Given the description of an element on the screen output the (x, y) to click on. 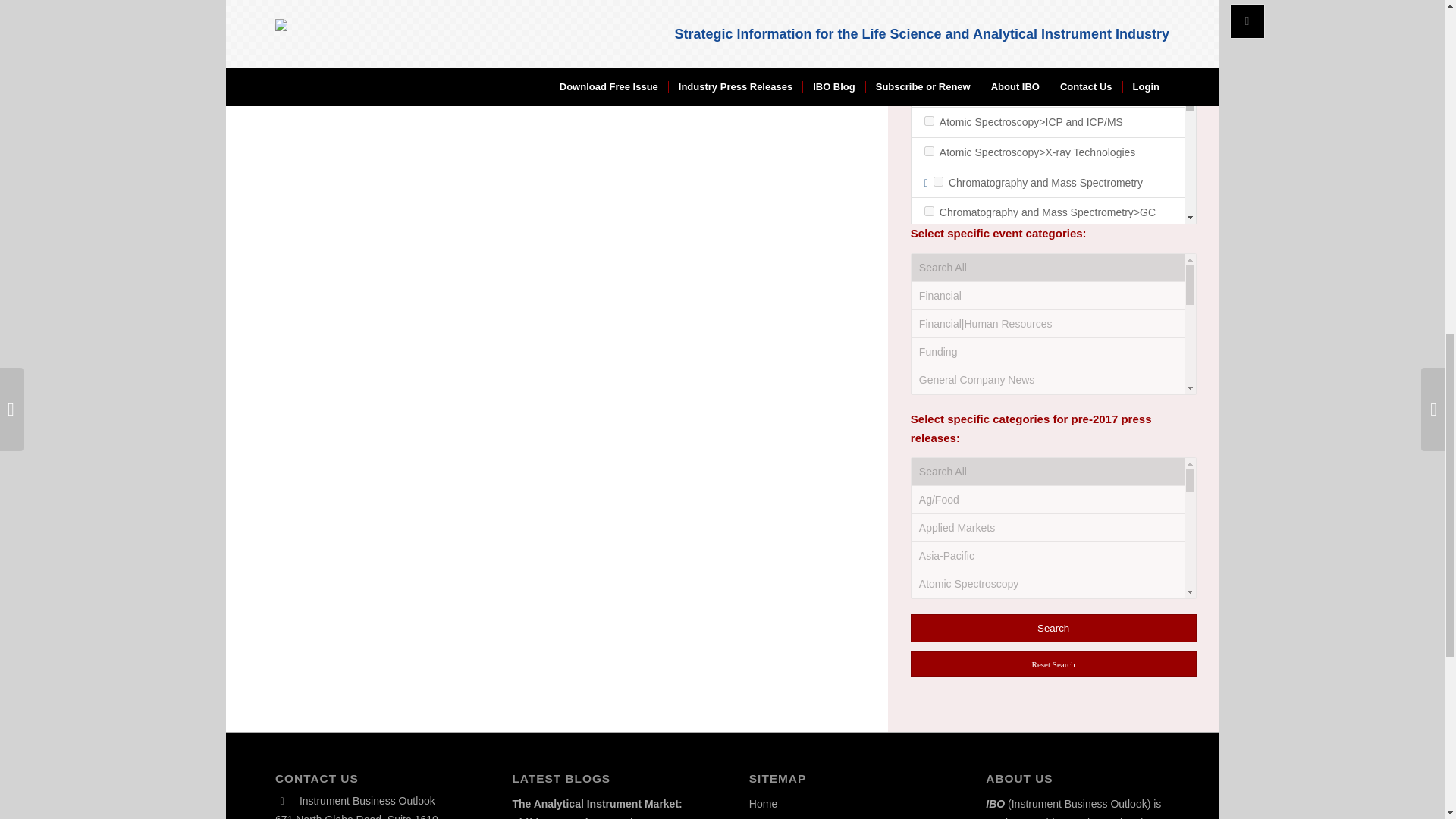
The Analytical Instrument Market: Shifting Growth Dynamics (596, 808)
chromatography-and-mass-spectrometryroutine-ms (929, 418)
chromatography-and-mass-spectrometry (938, 181)
chromatography-and-mass-spectrometrygc (929, 211)
general-laboratory-products (938, 515)
chromatography-and-mass-spectrometrylc (929, 338)
atomic-spectroscopy (938, 90)
general-laboratory-productsconsumableslife-sciencegene-based (929, 711)
atomic-spectroscopyx-ray-technologies (929, 151)
